Given the description of an element on the screen output the (x, y) to click on. 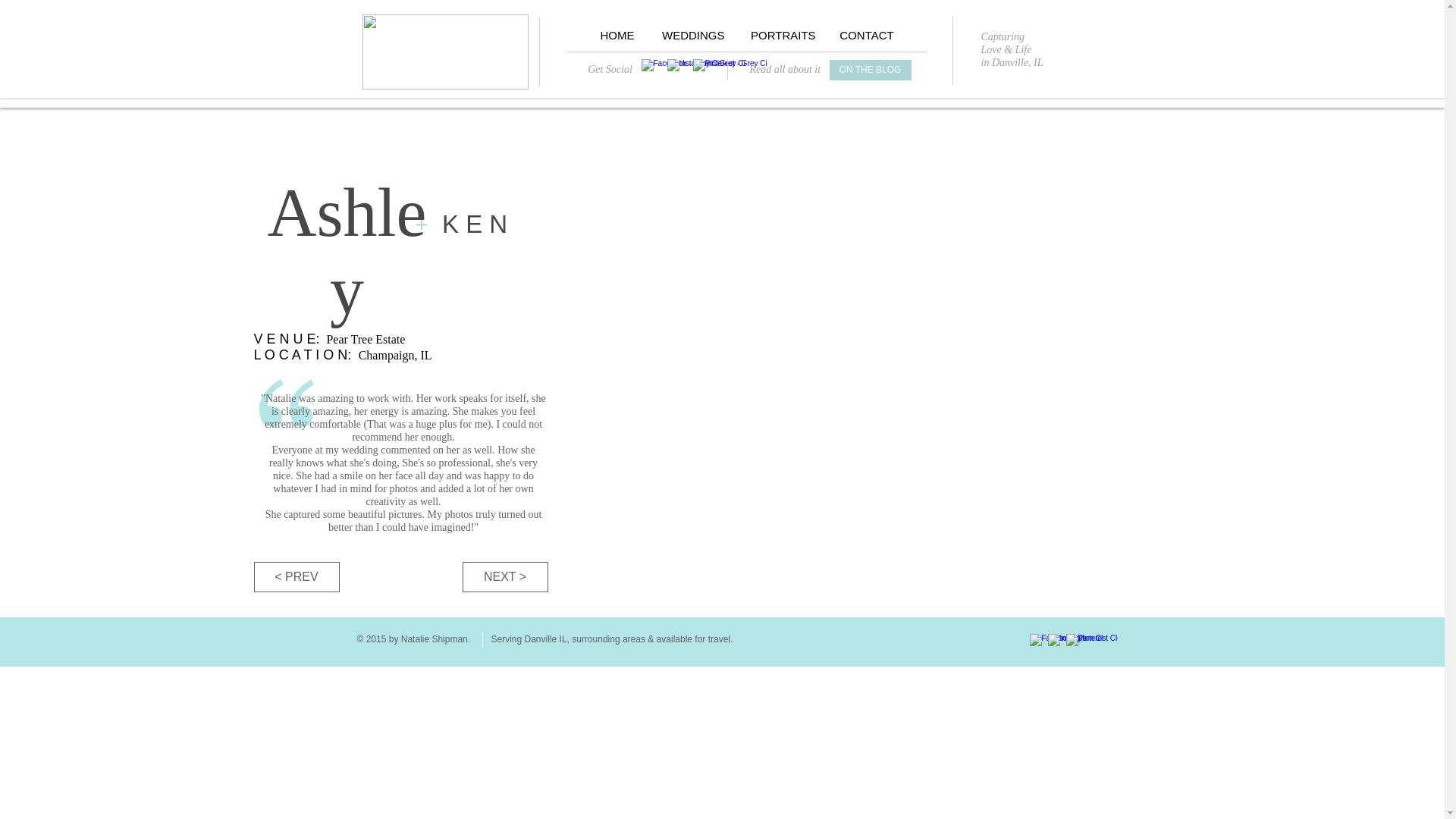
ON THE BLOG (870, 69)
PORTRAITS (780, 35)
CONTACT (866, 35)
HOME (616, 35)
WEDDINGS (691, 35)
